Given the description of an element on the screen output the (x, y) to click on. 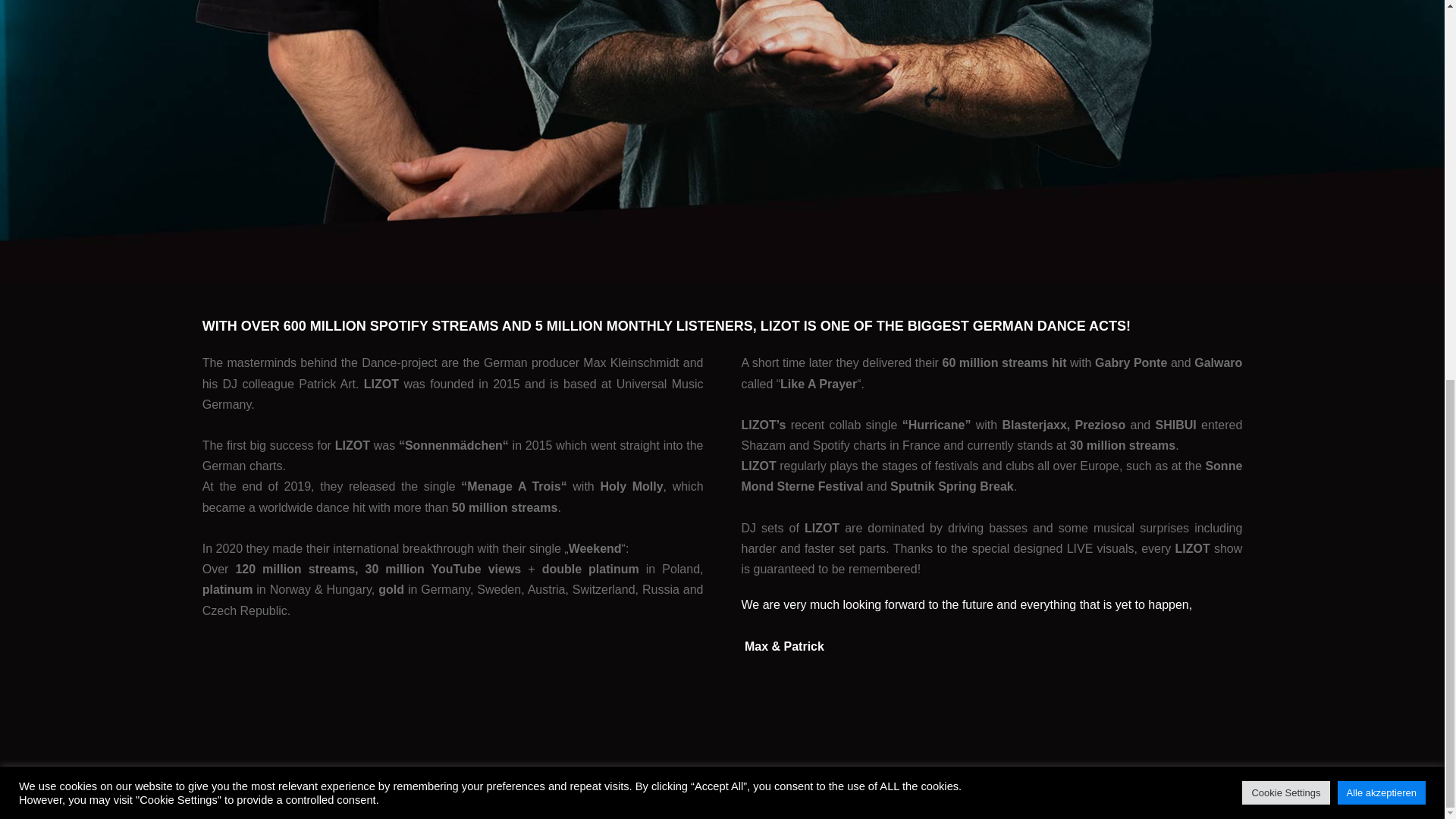
Alle akzeptieren (1382, 86)
Cookie Settings (1285, 86)
